Given the description of an element on the screen output the (x, y) to click on. 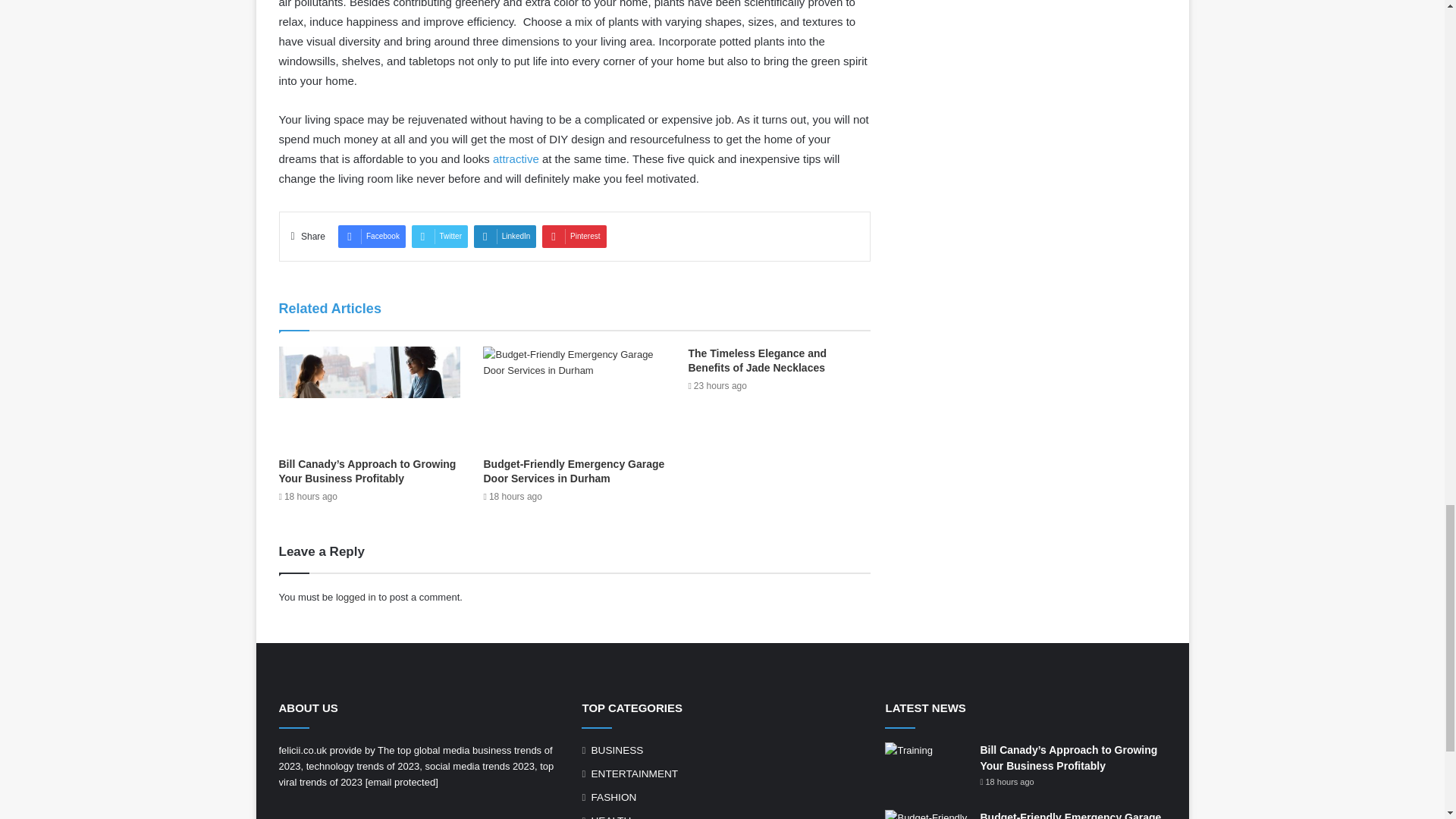
Facebook (371, 236)
attractive (515, 158)
